Given the description of an element on the screen output the (x, y) to click on. 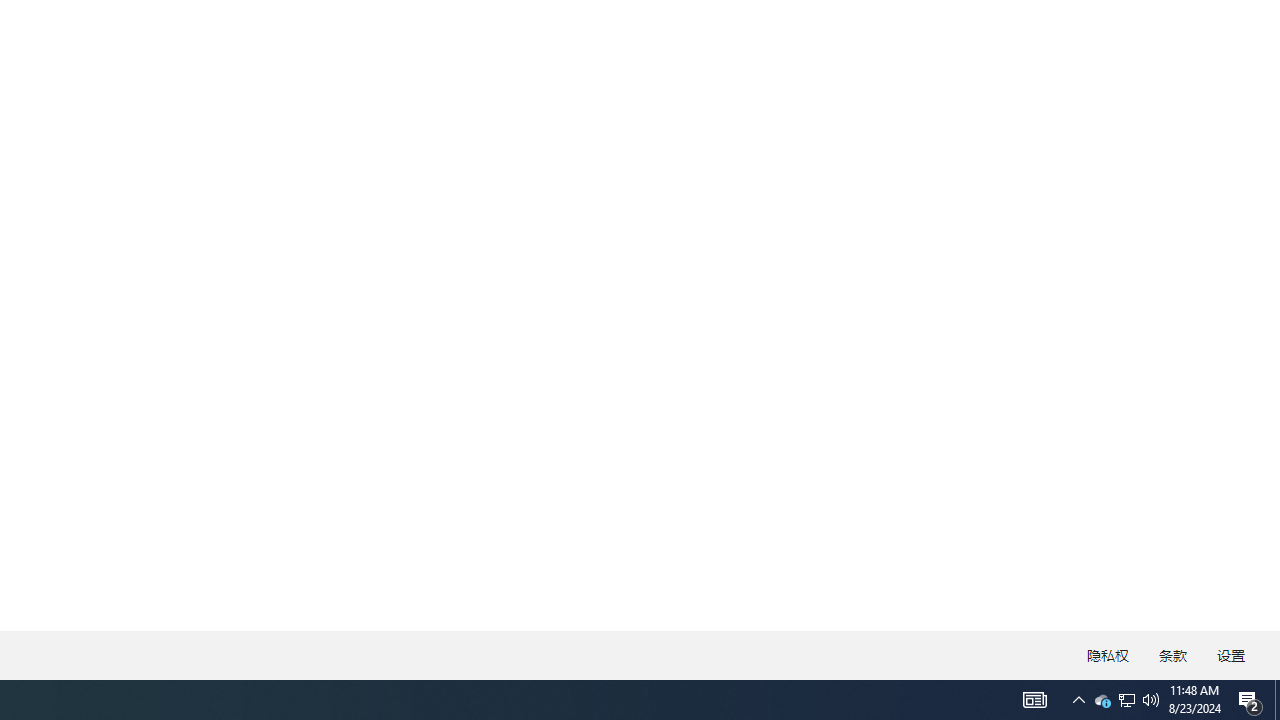
Action Center, 2 new notifications (1250, 699)
Notification Chevron (1078, 699)
Q2790: 100% (1151, 699)
User Promoted Notification Area (1126, 699)
Show desktop (1126, 699)
AutomationID: 4105 (1277, 699)
